Given the description of an element on the screen output the (x, y) to click on. 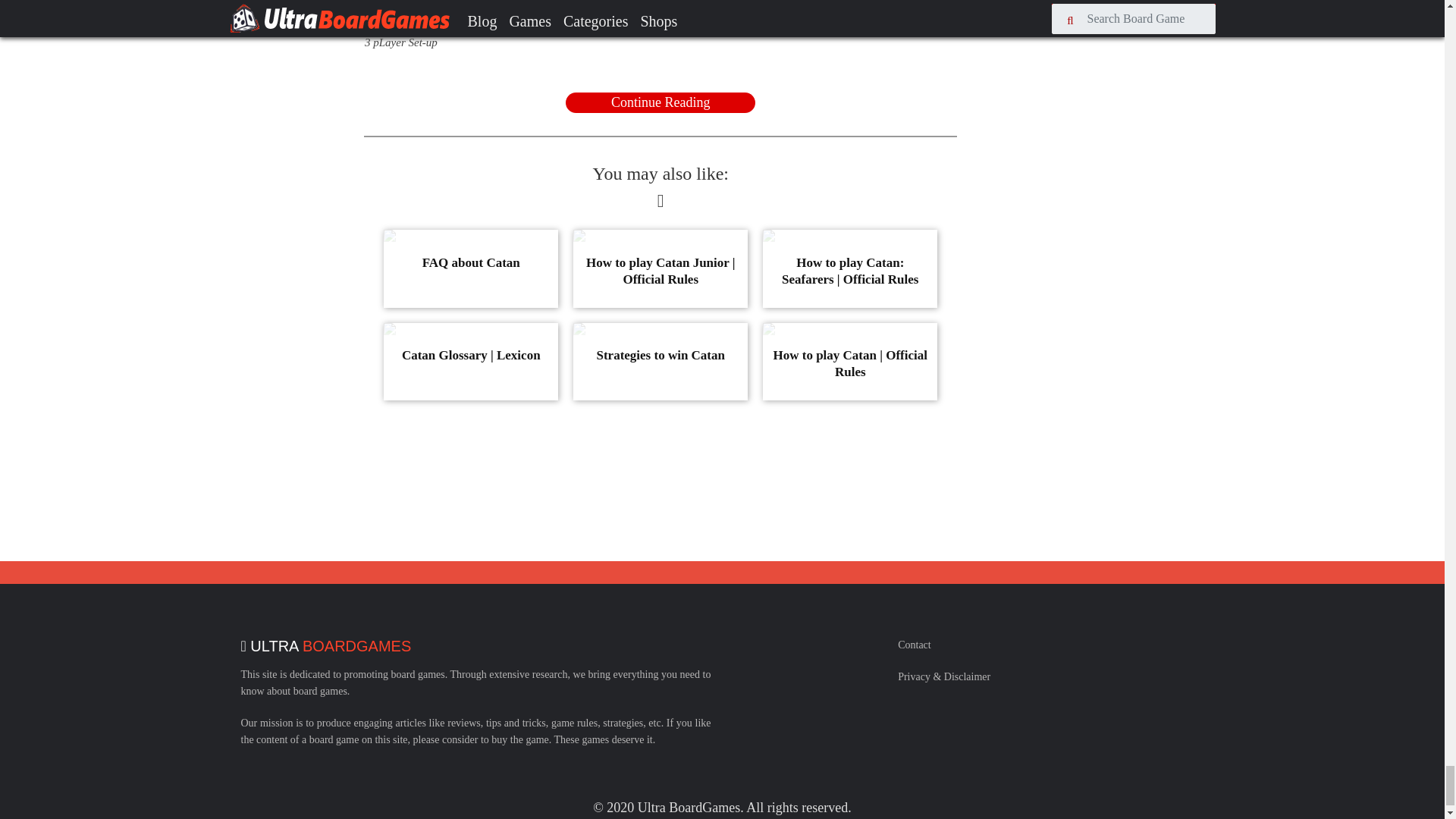
Strategies to win Catan (660, 361)
Continue Reading (660, 102)
FAQ about Catan (470, 267)
